Given the description of an element on the screen output the (x, y) to click on. 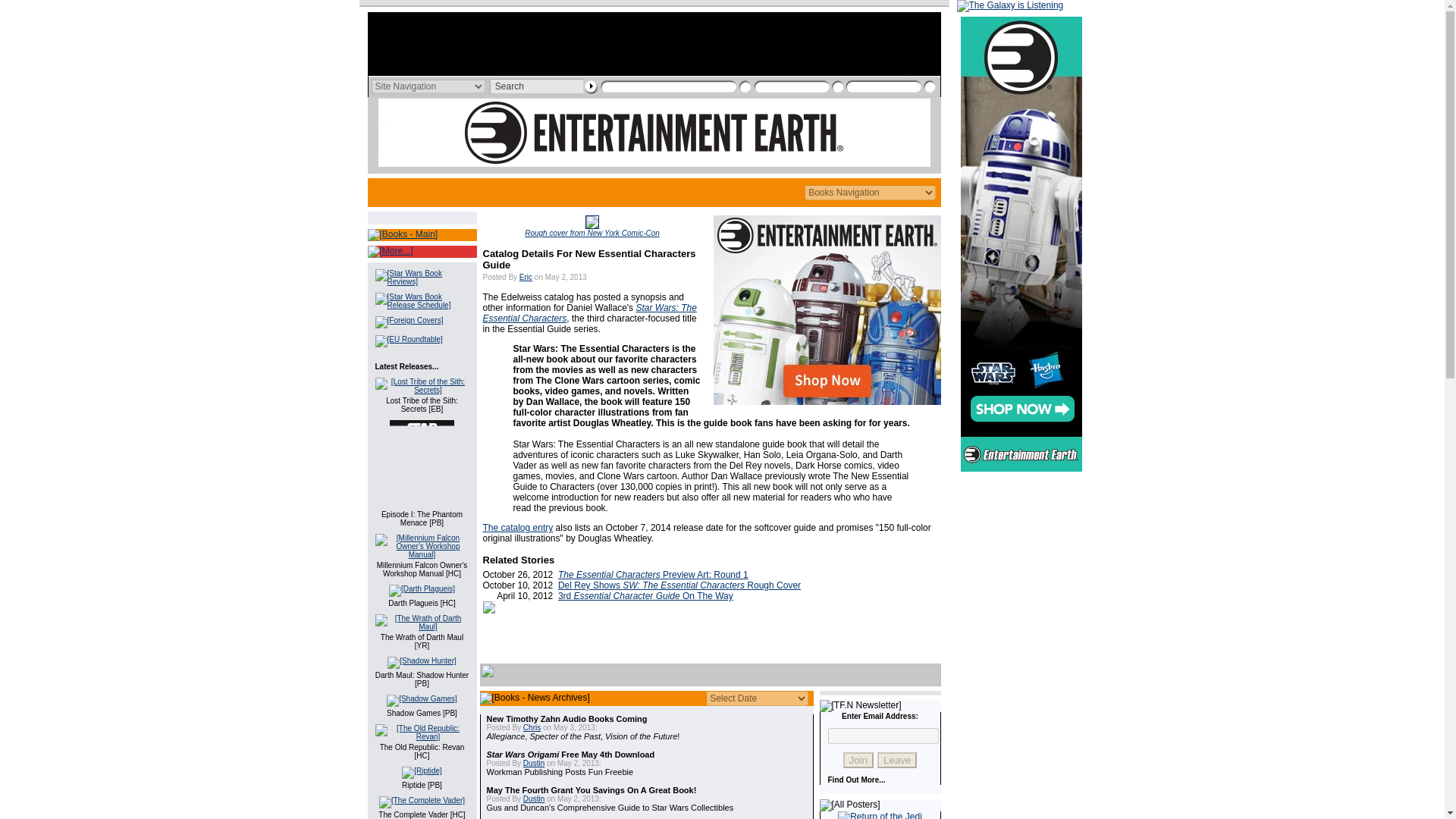
Eric (525, 276)
Join (858, 760)
 Search (539, 86)
Rough cover from New York Comic-Con (591, 233)
Leave (897, 760)
 Search (539, 86)
